Given the description of an element on the screen output the (x, y) to click on. 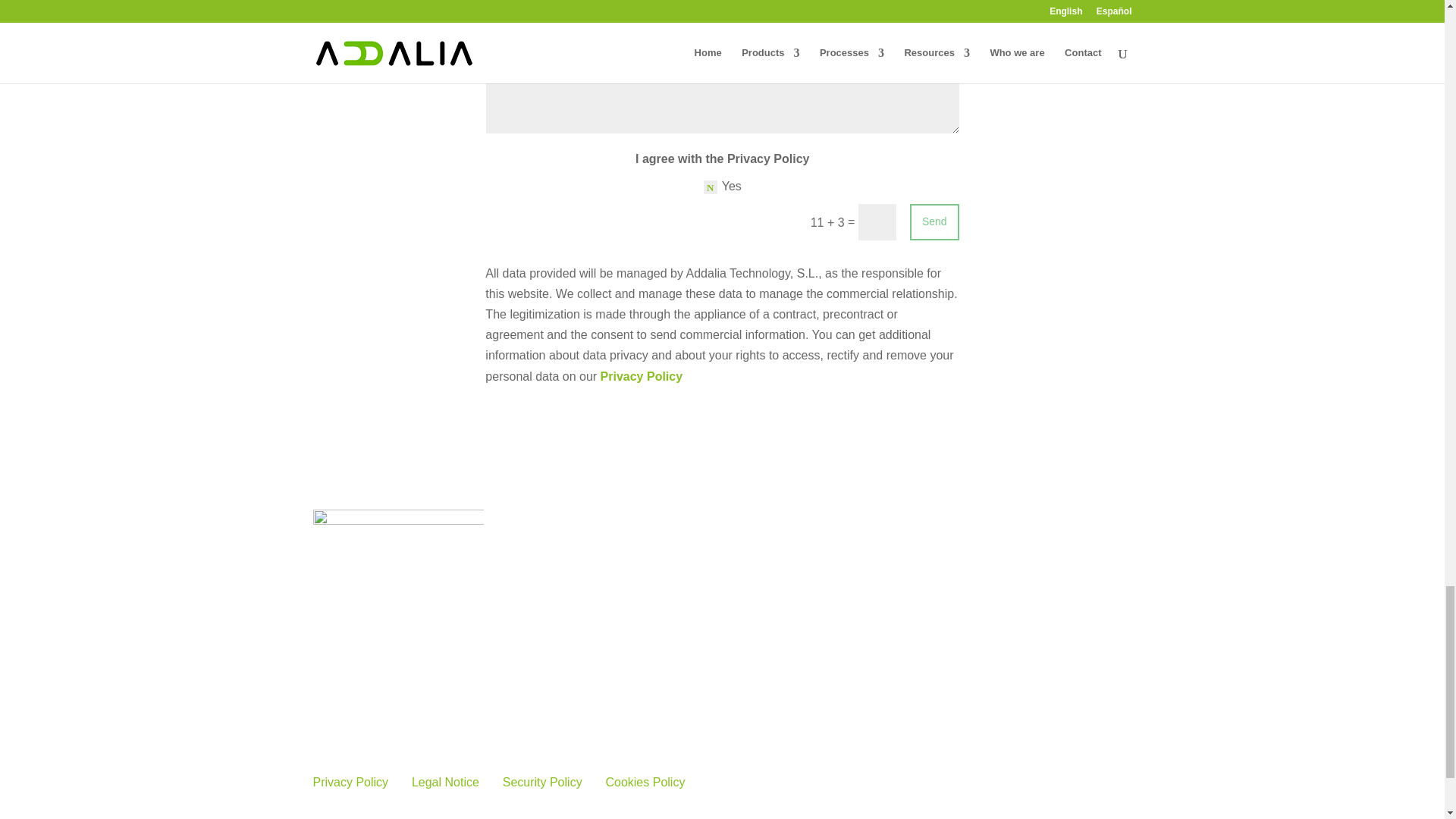
Follow on Twitter (354, 575)
Send (934, 221)
Privacy Policy (640, 376)
Follow on Youtube (384, 575)
Follow on LinkedIn (324, 575)
